Given the description of an element on the screen output the (x, y) to click on. 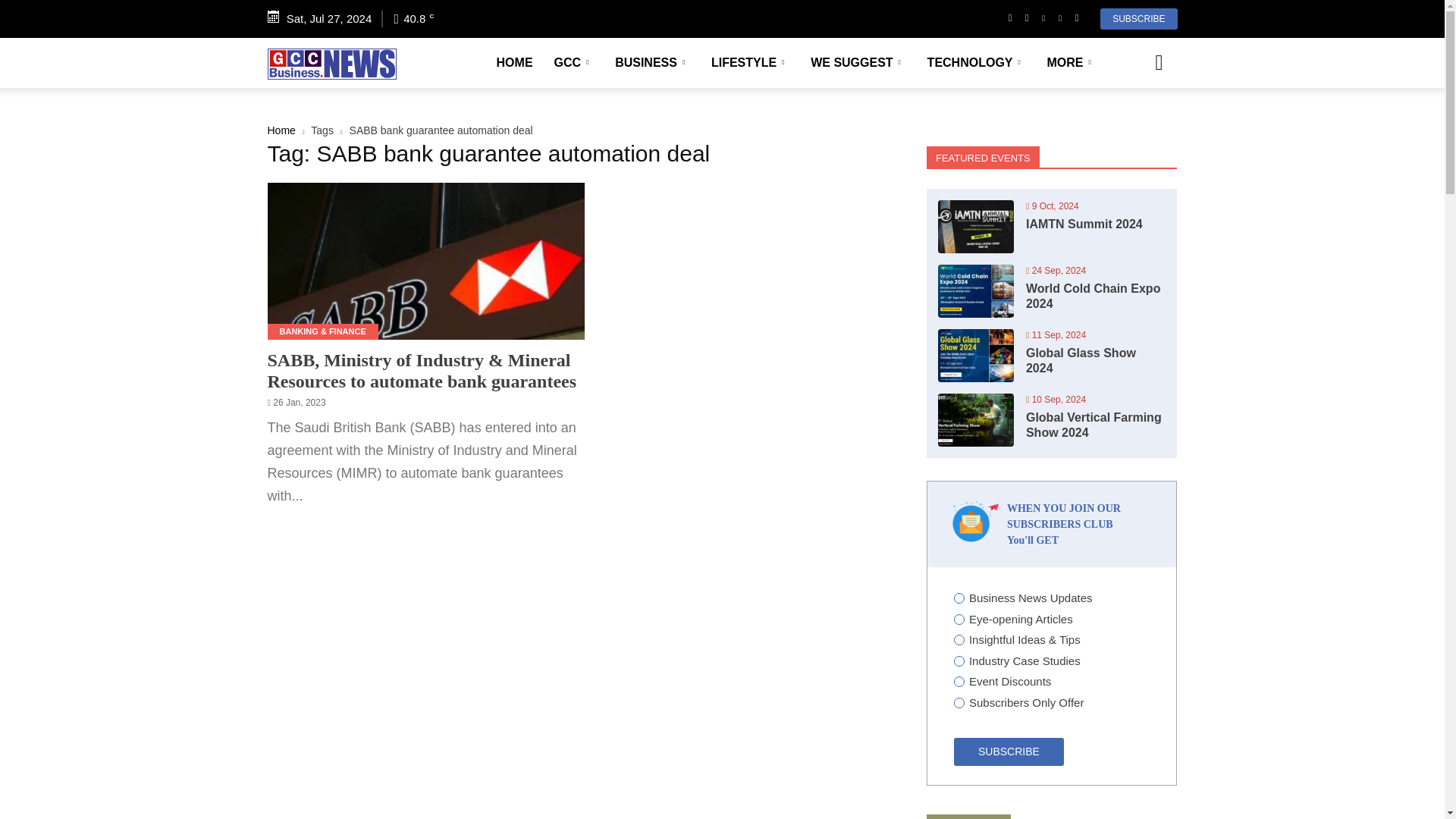
SUBSCRIBE (1138, 18)
